Given the description of an element on the screen output the (x, y) to click on. 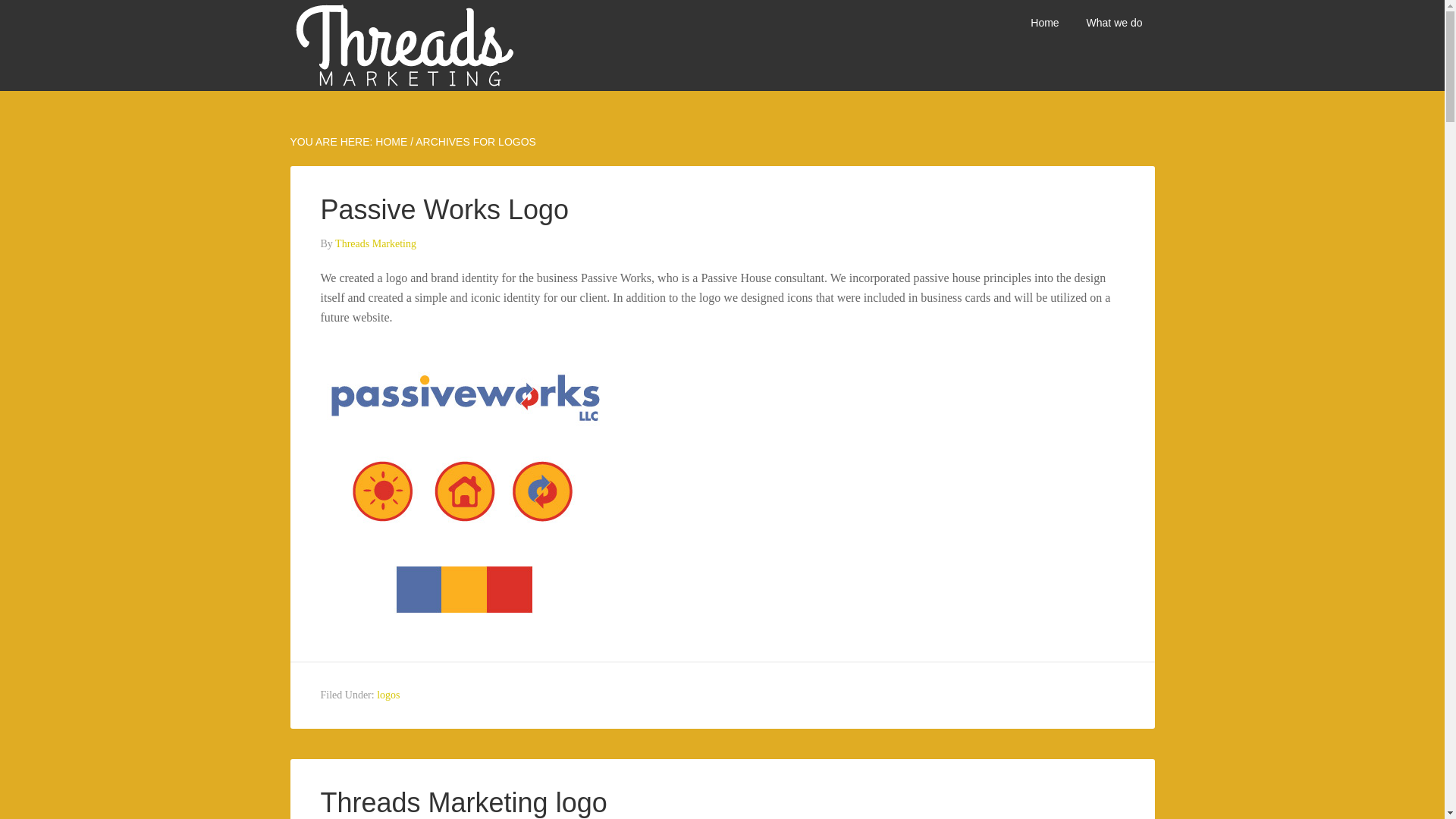
Threads Marketing logo (463, 802)
Home (1043, 22)
HOME (391, 141)
logos (387, 695)
Passive Works Logo (443, 209)
What we do (1114, 22)
Threads Marketing (375, 243)
